Given the description of an element on the screen output the (x, y) to click on. 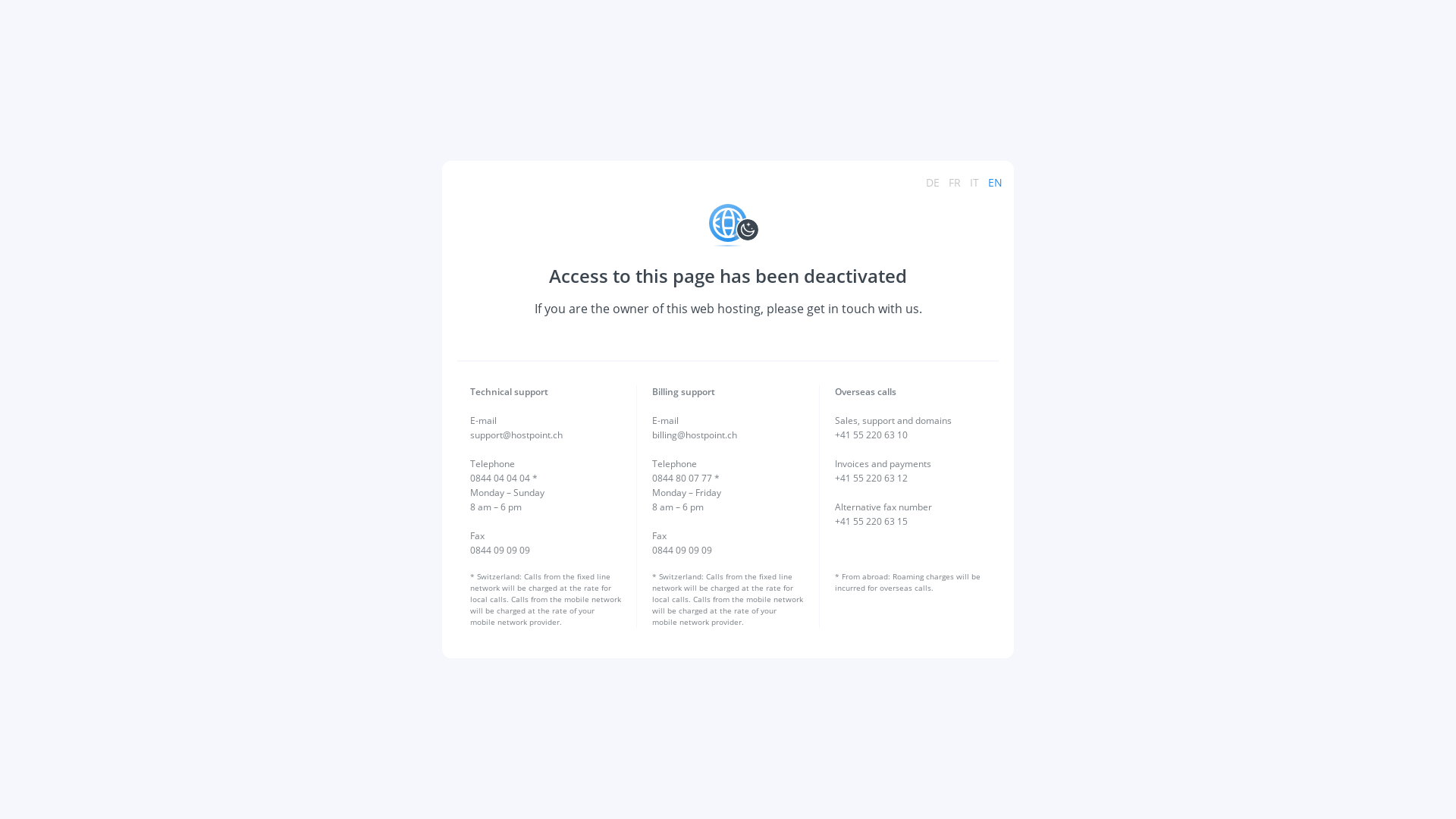
support@hostpoint.ch Element type: text (516, 434)
billing@hostpoint.ch Element type: text (694, 434)
